Given the description of an element on the screen output the (x, y) to click on. 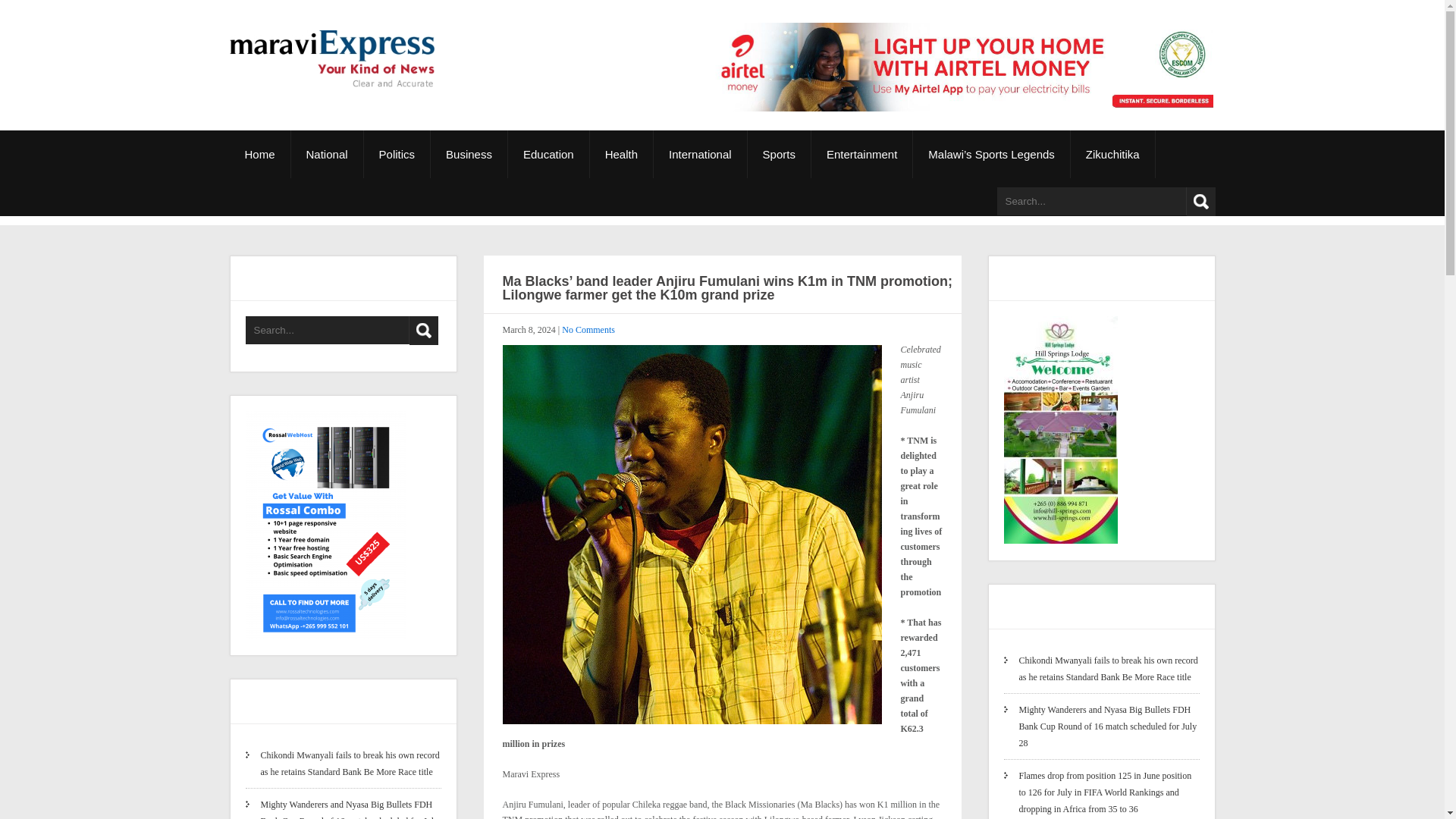
International (700, 154)
Home (258, 154)
Politics (397, 154)
Health (621, 154)
National (327, 154)
Business (469, 154)
Entertainment (861, 154)
Sports (779, 154)
Education (548, 154)
Zikuchitika (1113, 154)
